Given the description of an element on the screen output the (x, y) to click on. 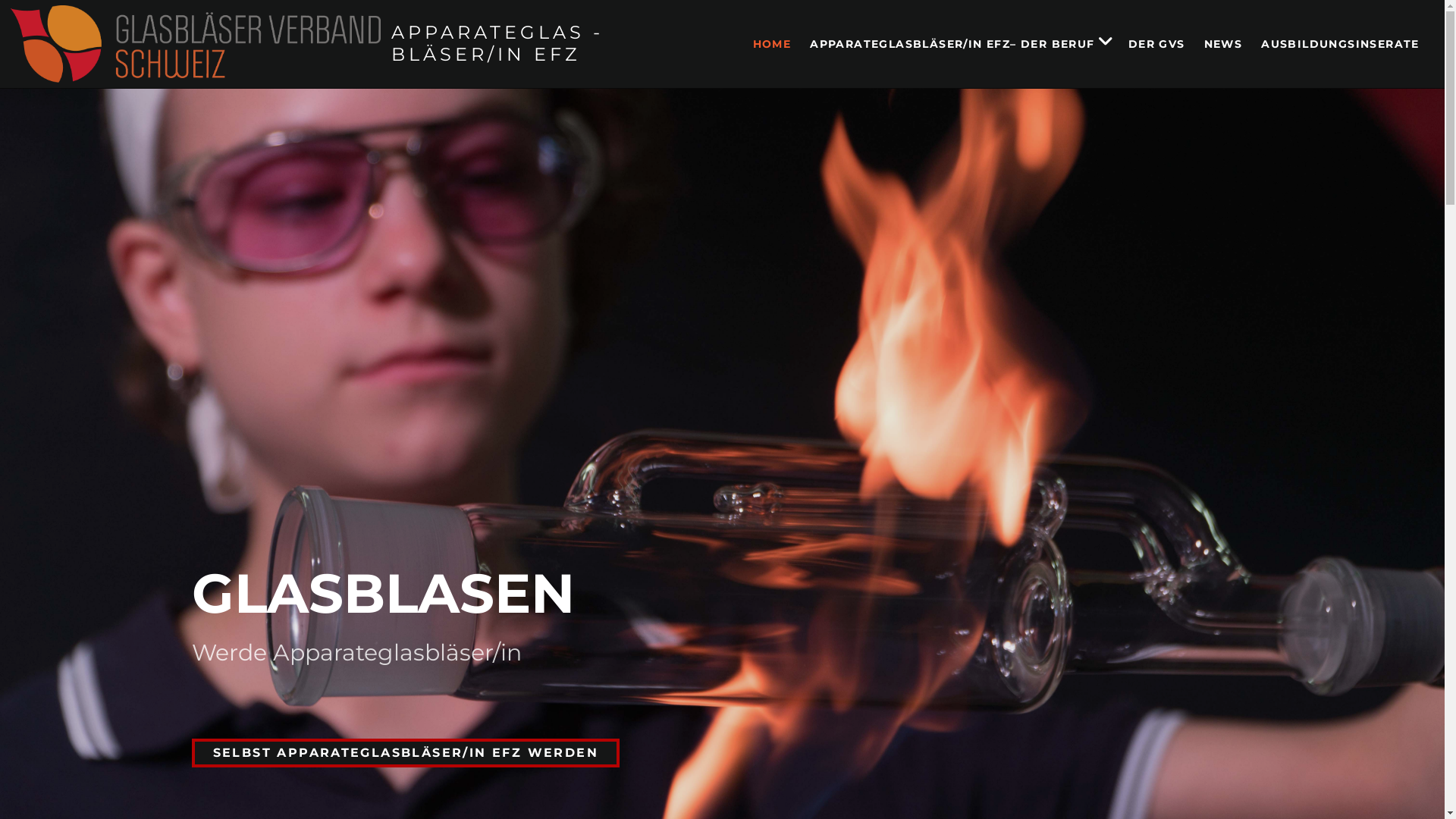
NEWS Element type: text (1220, 43)
DER GVS Element type: text (1153, 43)
HOME Element type: text (769, 43)
AUSBILDUNGSINSERATE Element type: text (1337, 43)
